Given the description of an element on the screen output the (x, y) to click on. 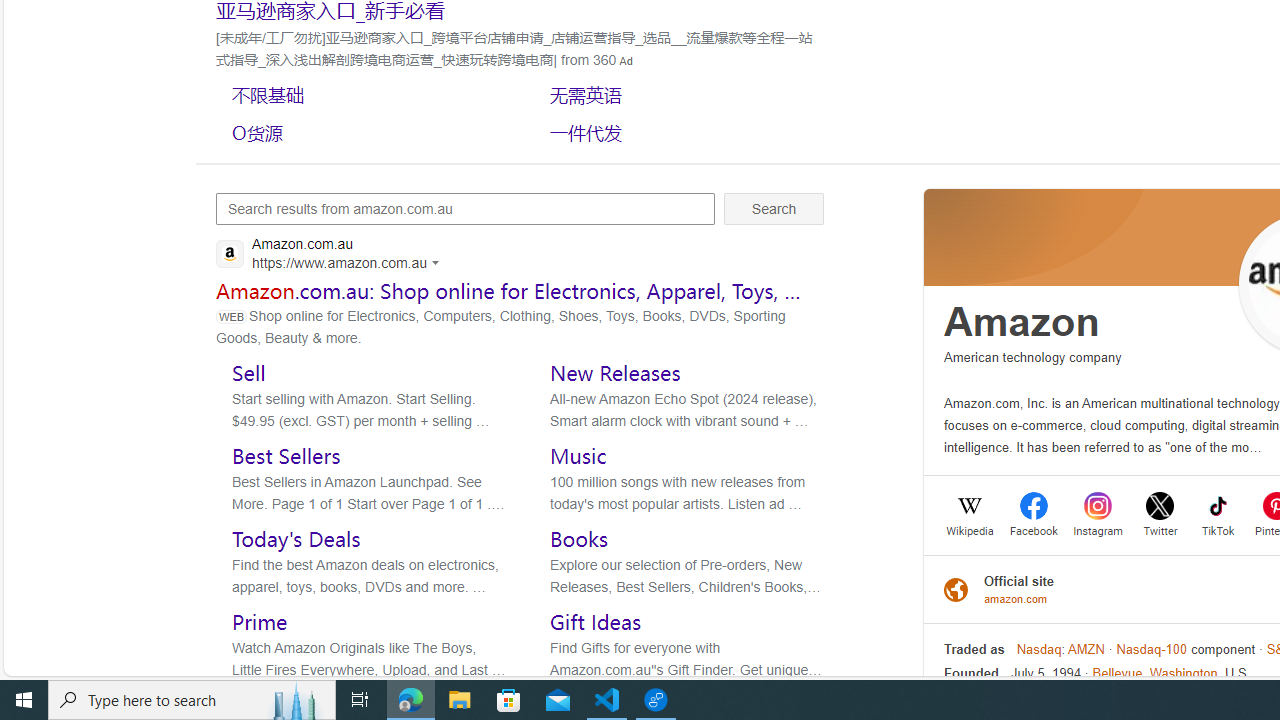
Bellevue, Washington (1154, 673)
Twitter (1160, 529)
Instagram (1097, 529)
Books (579, 539)
amazon.com (1019, 598)
SERP,5569 (683, 94)
Music (578, 455)
Amazon.com.au (333, 255)
Actions for this site (438, 262)
Nasdaq (1039, 649)
Gift Ideas (596, 622)
